Given the description of an element on the screen output the (x, y) to click on. 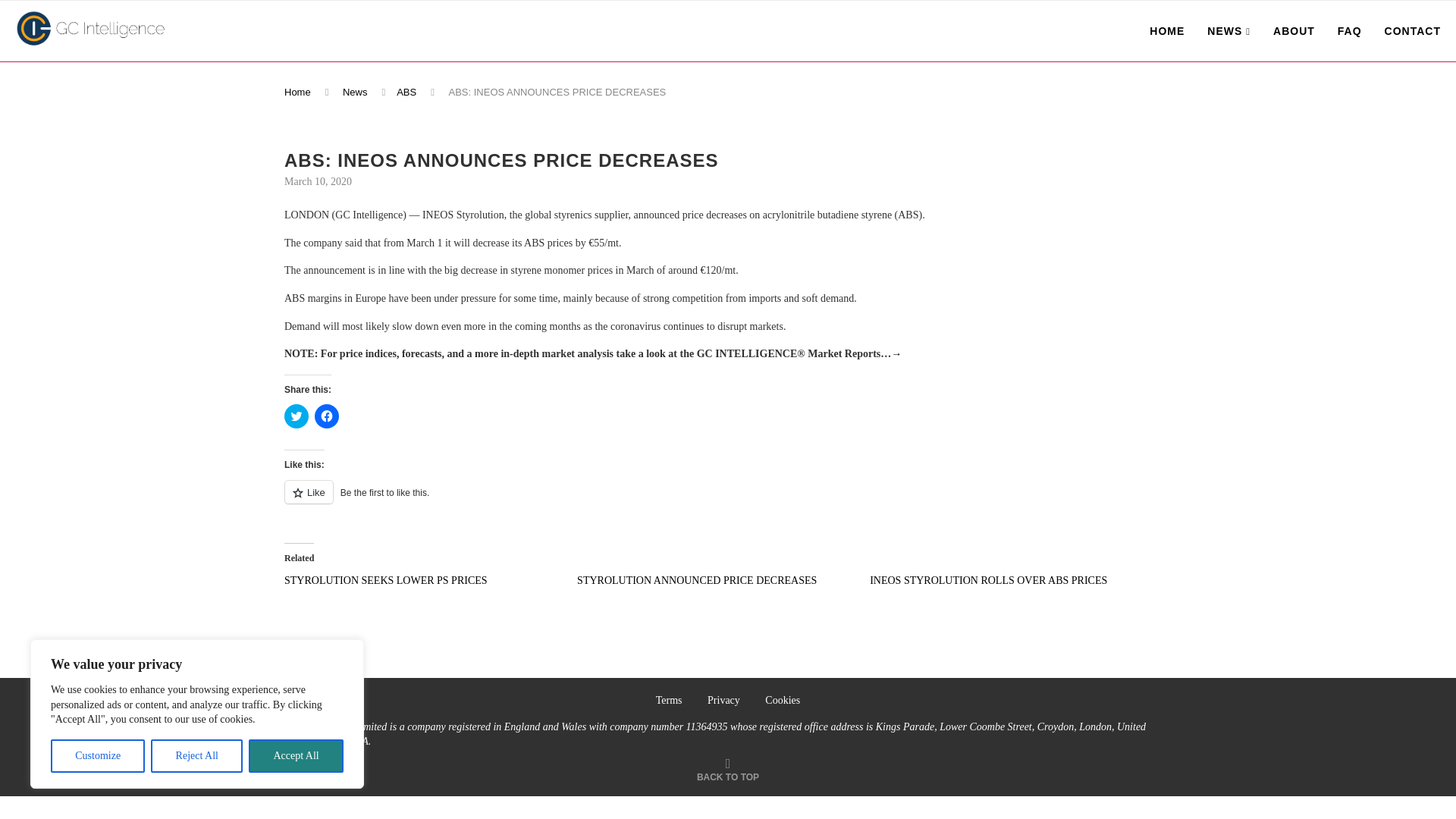
Click to share on Twitter (295, 416)
Reject All (197, 756)
STYROLUTION ANNOUNCED PRICE DECREASES (696, 580)
Accept All (295, 756)
Like or Reblog (727, 500)
STYROLUTION SEEKS LOWER PS PRICES (385, 580)
Click to share on Facebook (326, 416)
Customize (97, 756)
INEOS STYROLUTION ROLLS OVER ABS PRICES (987, 580)
